Given the description of an element on the screen output the (x, y) to click on. 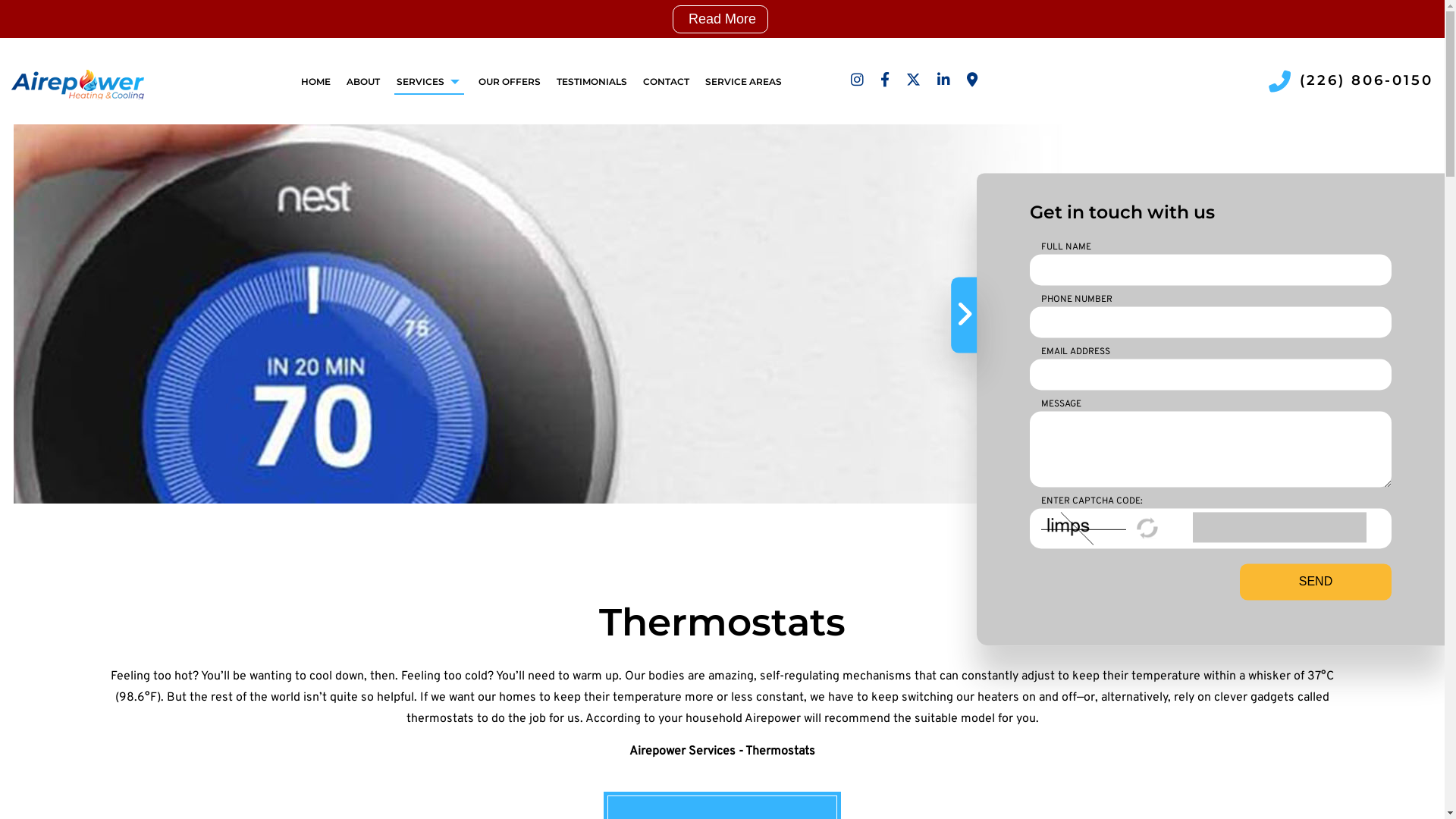
Airepower Inc.'s Twitter Element type: hover (912, 81)
SERVICES Element type: text (429, 80)
Full Name Element type: hover (1210, 269)
FURNACES Element type: text (320, 156)
AIR CONDITIONERS Element type: text (320, 133)
CONTACT Element type: text (666, 80)
WATER HEATERS Element type: text (545, 179)
WATER SOFTENERS Element type: text (320, 202)
Enter Captcha Element type: hover (1279, 526)
FIREPLACES Element type: text (545, 133)
Refresh Captcha Element type: hover (1147, 528)
SEND Element type: text (1315, 582)
THERMOSTATS Element type: text (320, 179)
Airepower Inc.'s LinkedIn Element type: hover (943, 81)
TESTIMONIALS Element type: text (592, 80)
ABOUT Element type: text (363, 80)
Phone Number Element type: hover (1210, 321)
OUR OFFERS Element type: text (509, 80)
(226) 806-0150 Element type: text (1349, 80)
Enter your message Element type: hover (1210, 448)
HOME Element type: text (315, 80)
Airepower Inc. Element type: hover (77, 80)
RENTAL & FINANCING Element type: text (545, 156)
Email Address Element type: hover (1210, 373)
SERVICE AREAS Element type: text (743, 80)
